Given the description of an element on the screen output the (x, y) to click on. 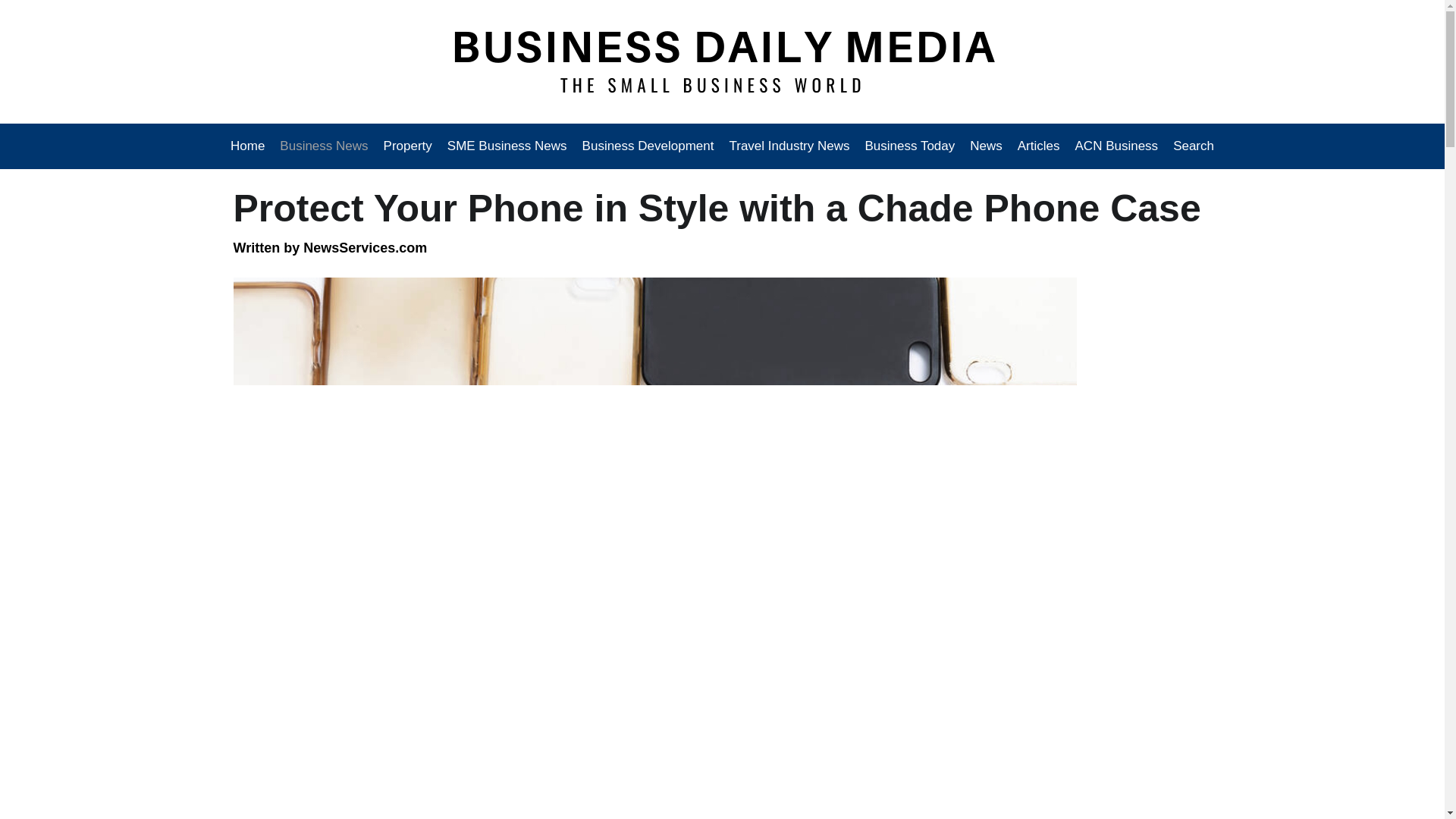
ACN Business (1116, 145)
Business News (323, 145)
Home (251, 145)
News (986, 145)
Travel Industry News (788, 145)
Articles (1038, 145)
Business Today (909, 145)
SME Business News (507, 145)
Business Development (648, 145)
Search (1190, 145)
